Given the description of an element on the screen output the (x, y) to click on. 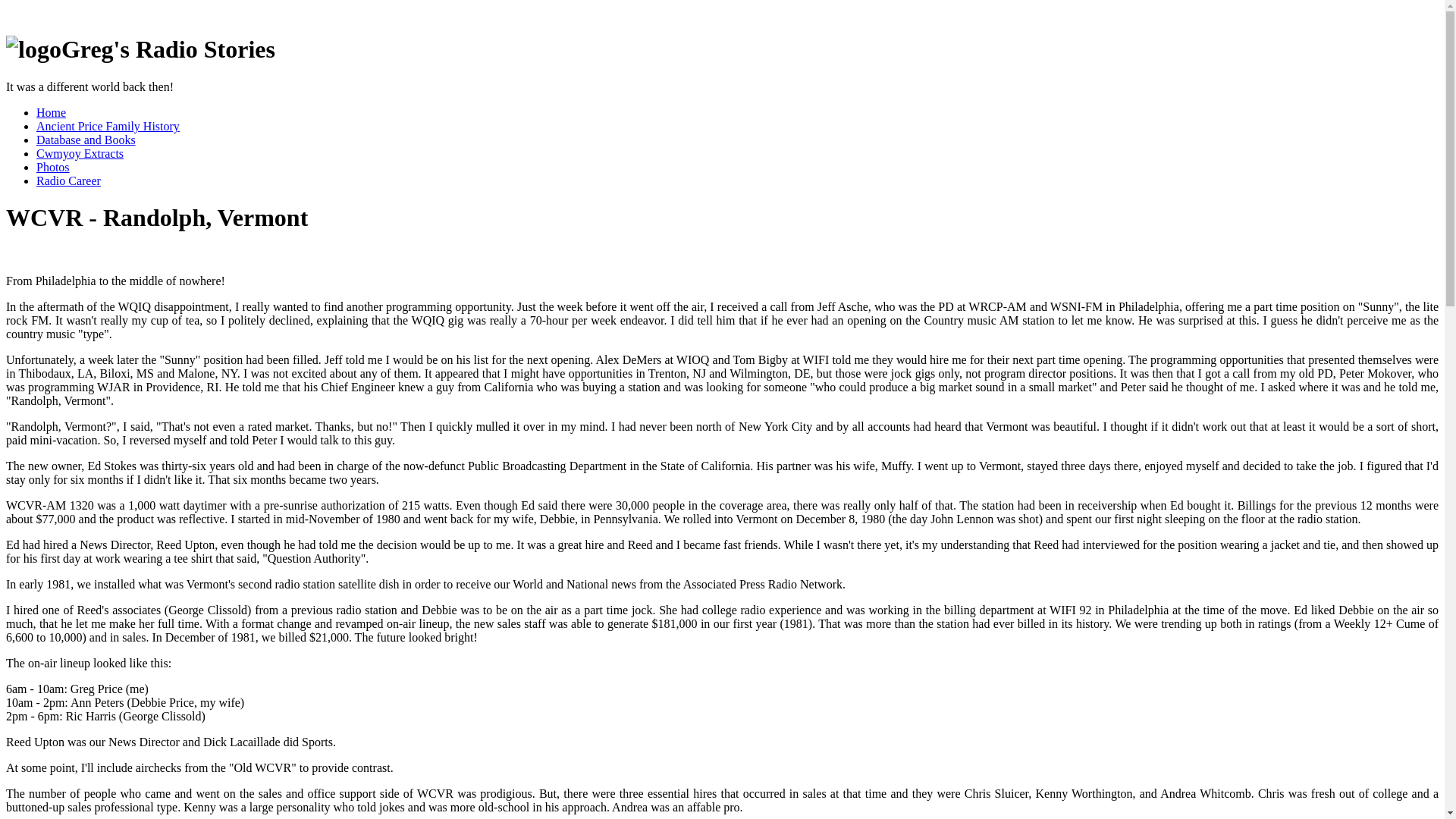
Photos (52, 166)
Cwmyoy Extracts (79, 153)
Home (50, 112)
Ancient Price Family History (107, 125)
Radio Career (68, 180)
Database and Books (85, 139)
